Given the description of an element on the screen output the (x, y) to click on. 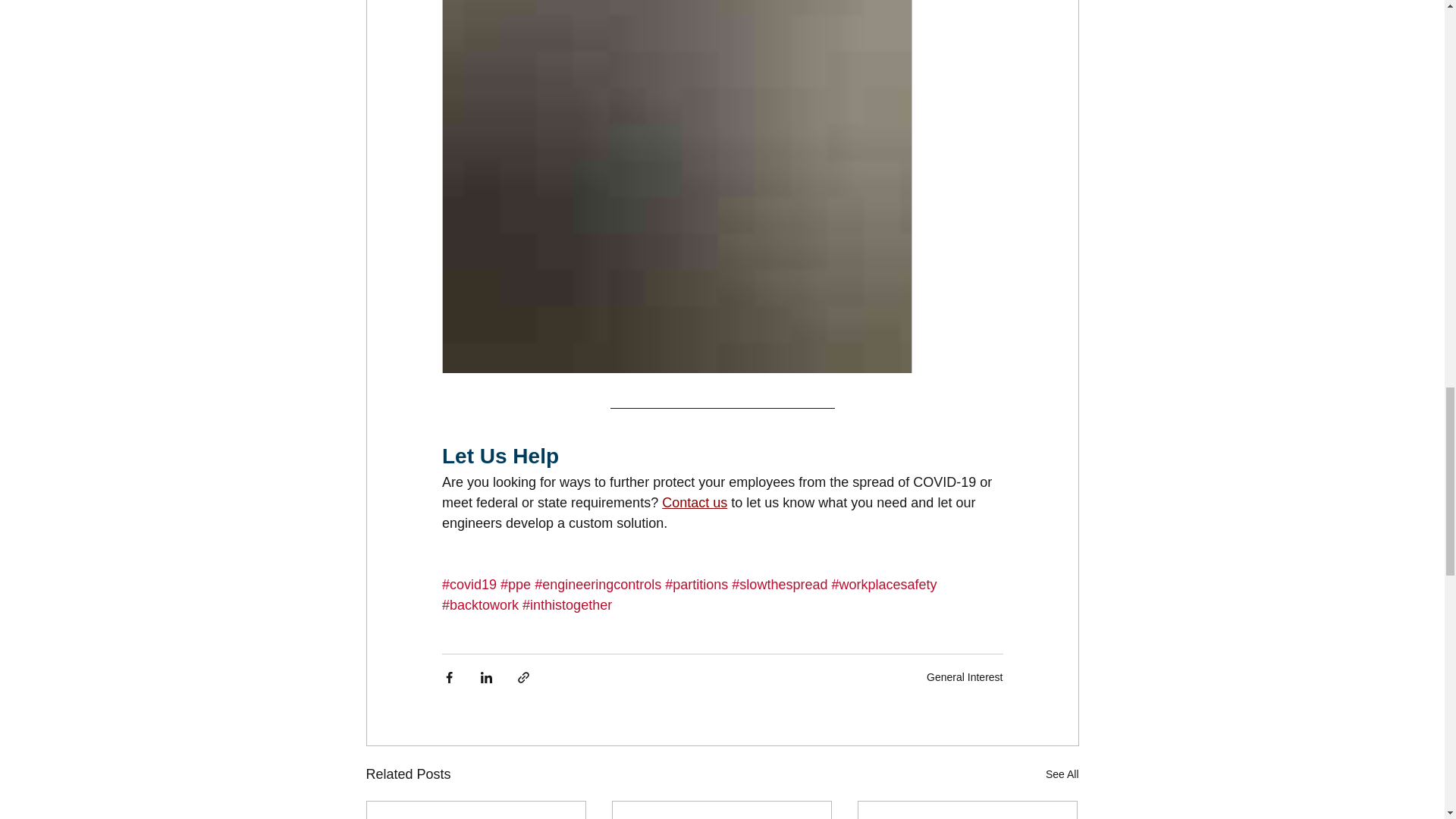
Contact us (694, 502)
